Given the description of an element on the screen output the (x, y) to click on. 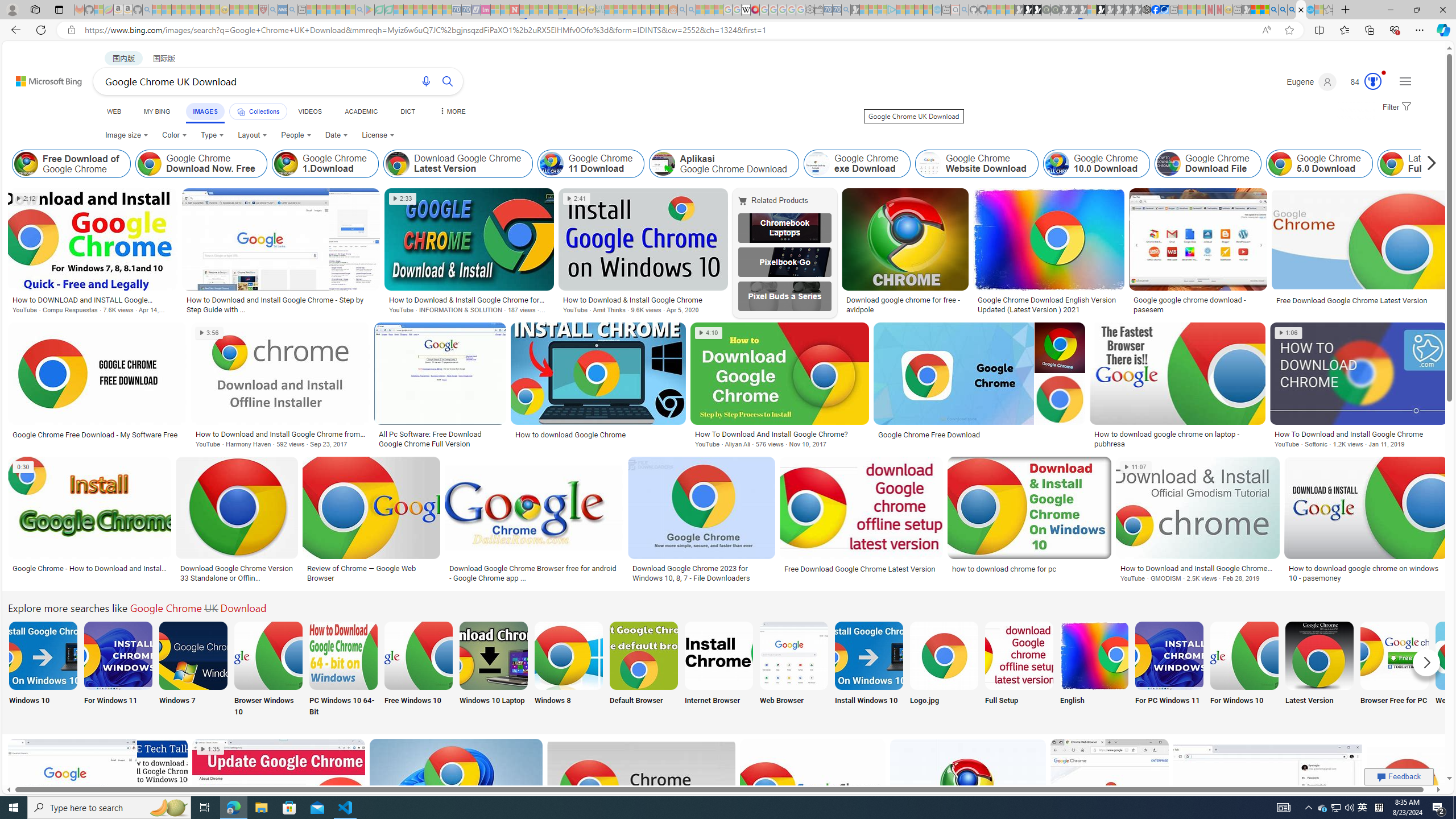
How to Download and Install Google Chrome for Windows 10 (1198, 568)
Nordace | Facebook (1154, 9)
Future Focus Report 2024 - Sleeping (1054, 9)
Google Chrome Website Download (976, 163)
All Pc Software: Free Download Google Chrome Full Version (440, 438)
Google Chrome - How to Download and Install Google Chrome (89, 568)
DICT (407, 111)
Free Download Google Chrome Latest VersionSave (863, 521)
Nordace - Cooler Bags (1146, 9)
